Given the description of an element on the screen output the (x, y) to click on. 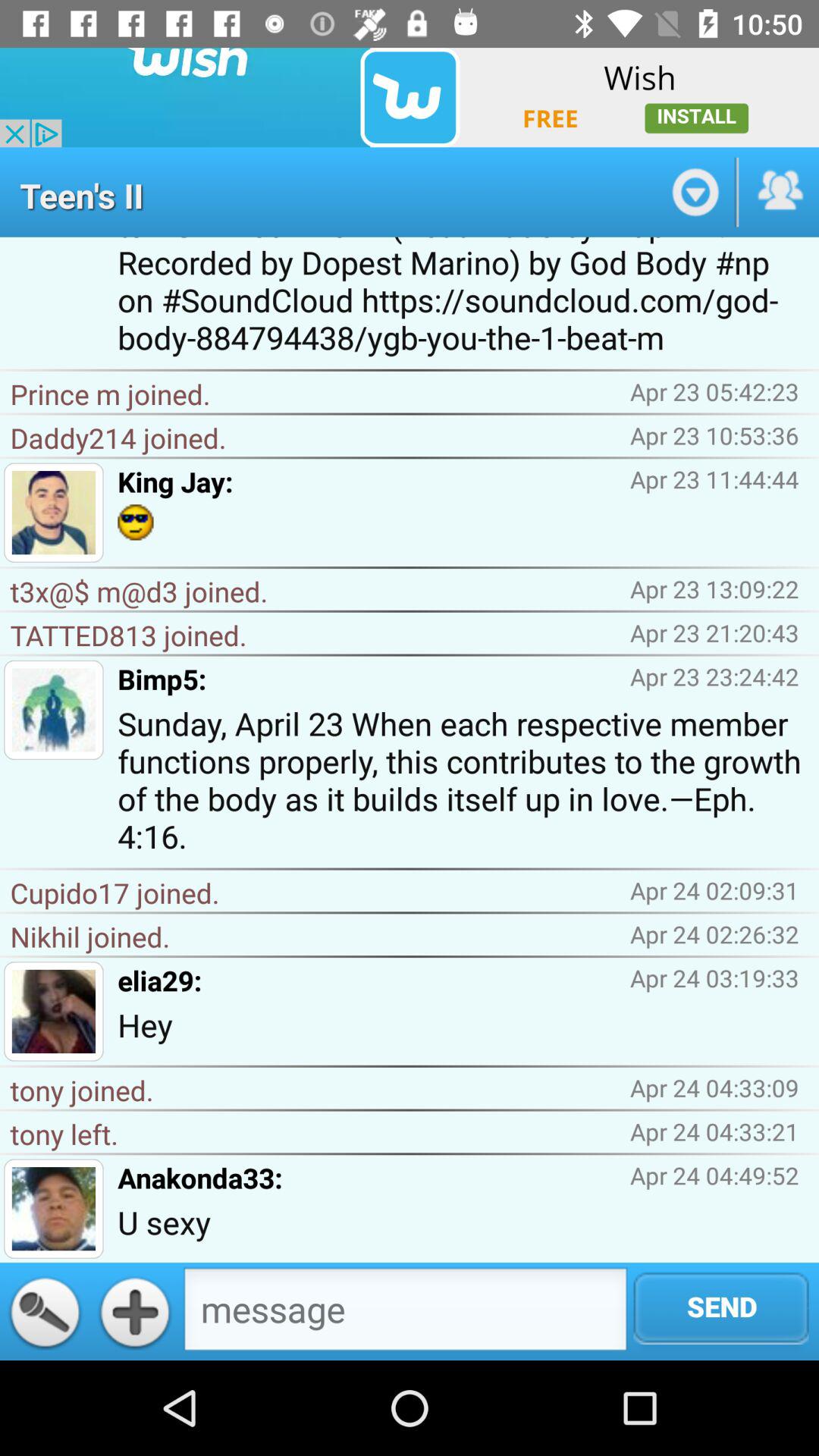
record voice (44, 1311)
